Given the description of an element on the screen output the (x, y) to click on. 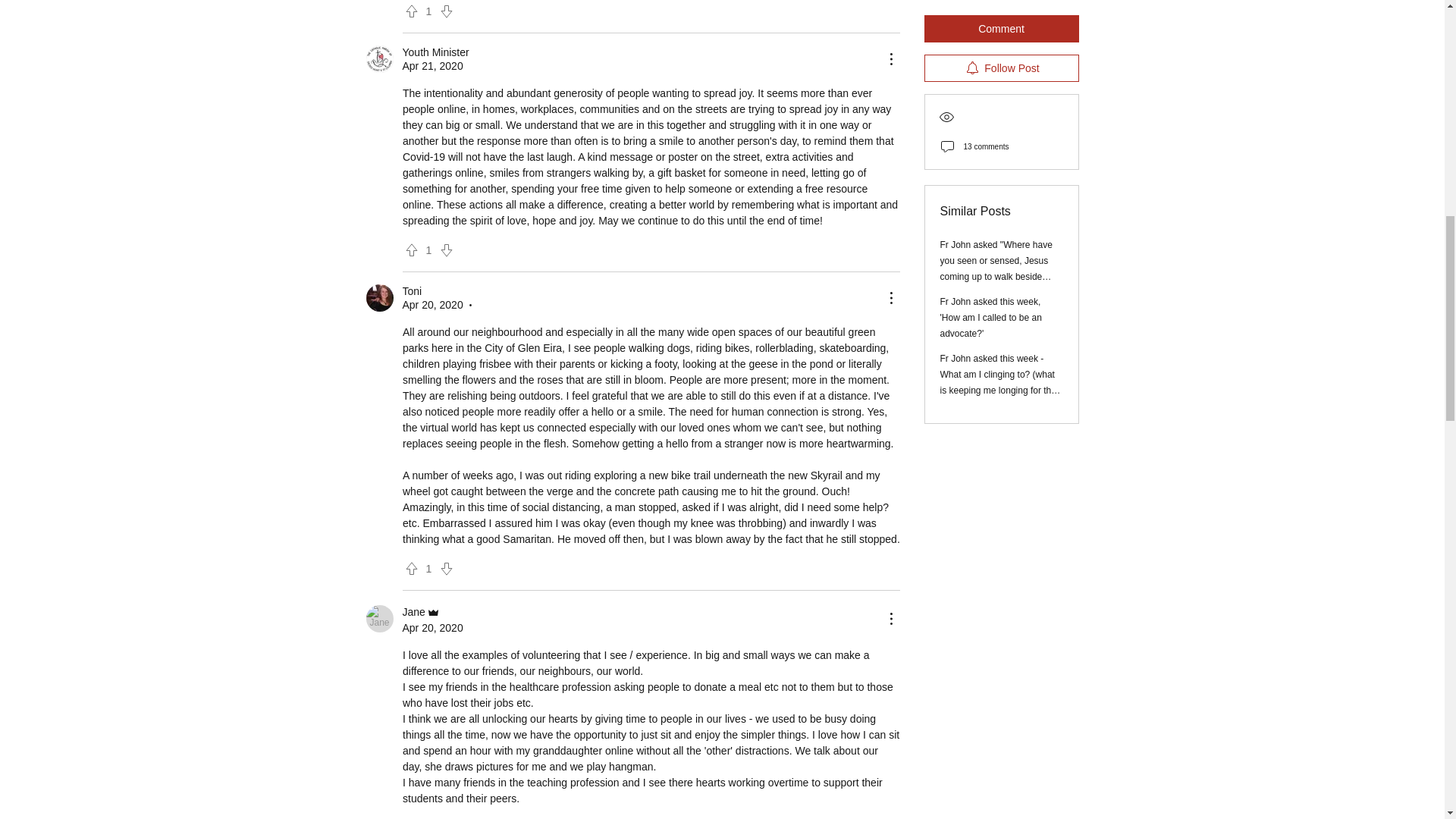
Toni (379, 298)
Jane (379, 618)
Youth Minister (379, 58)
